Given the description of an element on the screen output the (x, y) to click on. 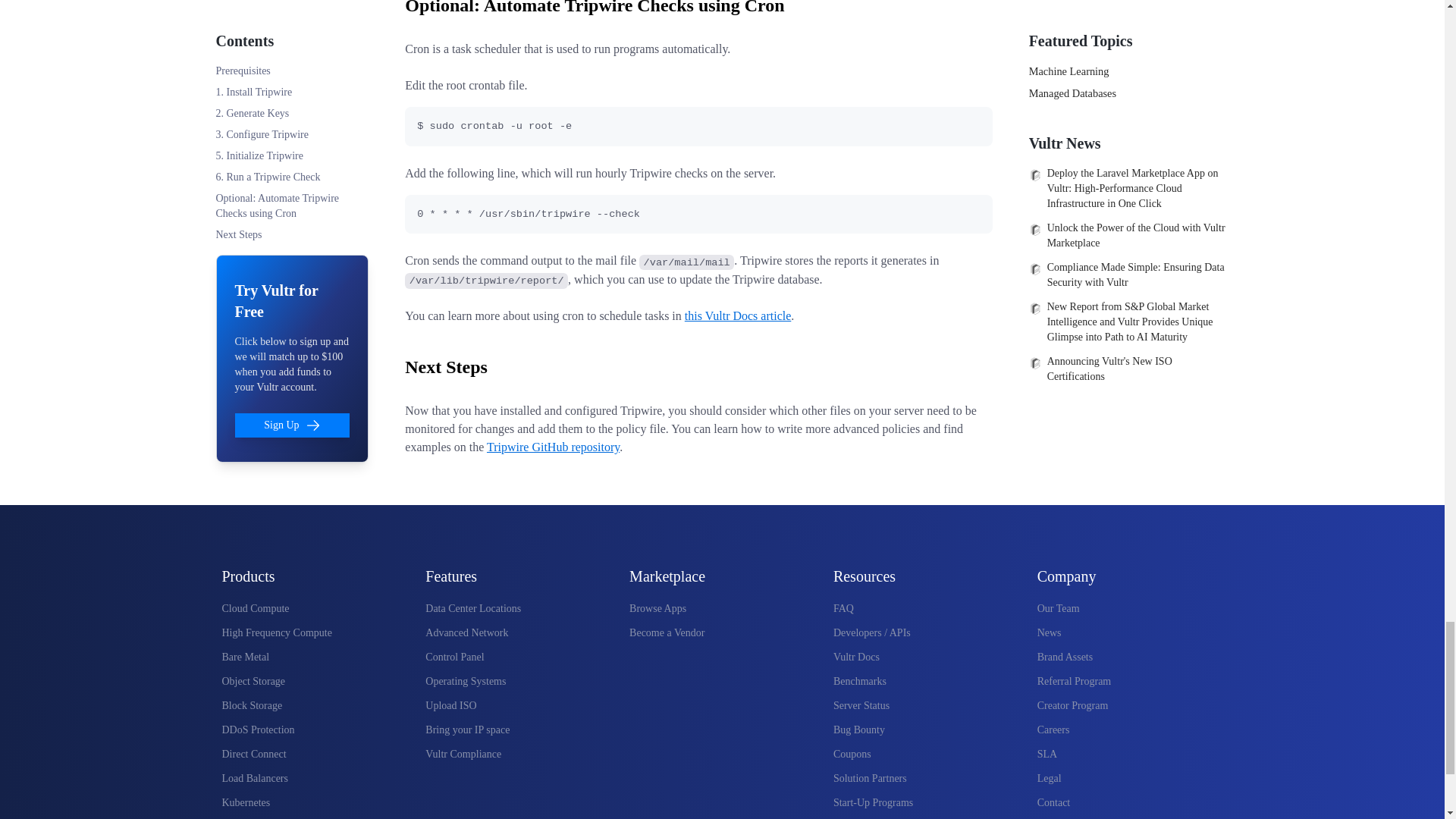
Tripwire GitHub repository (553, 446)
this Vultr Docs article (738, 315)
